Given the description of an element on the screen output the (x, y) to click on. 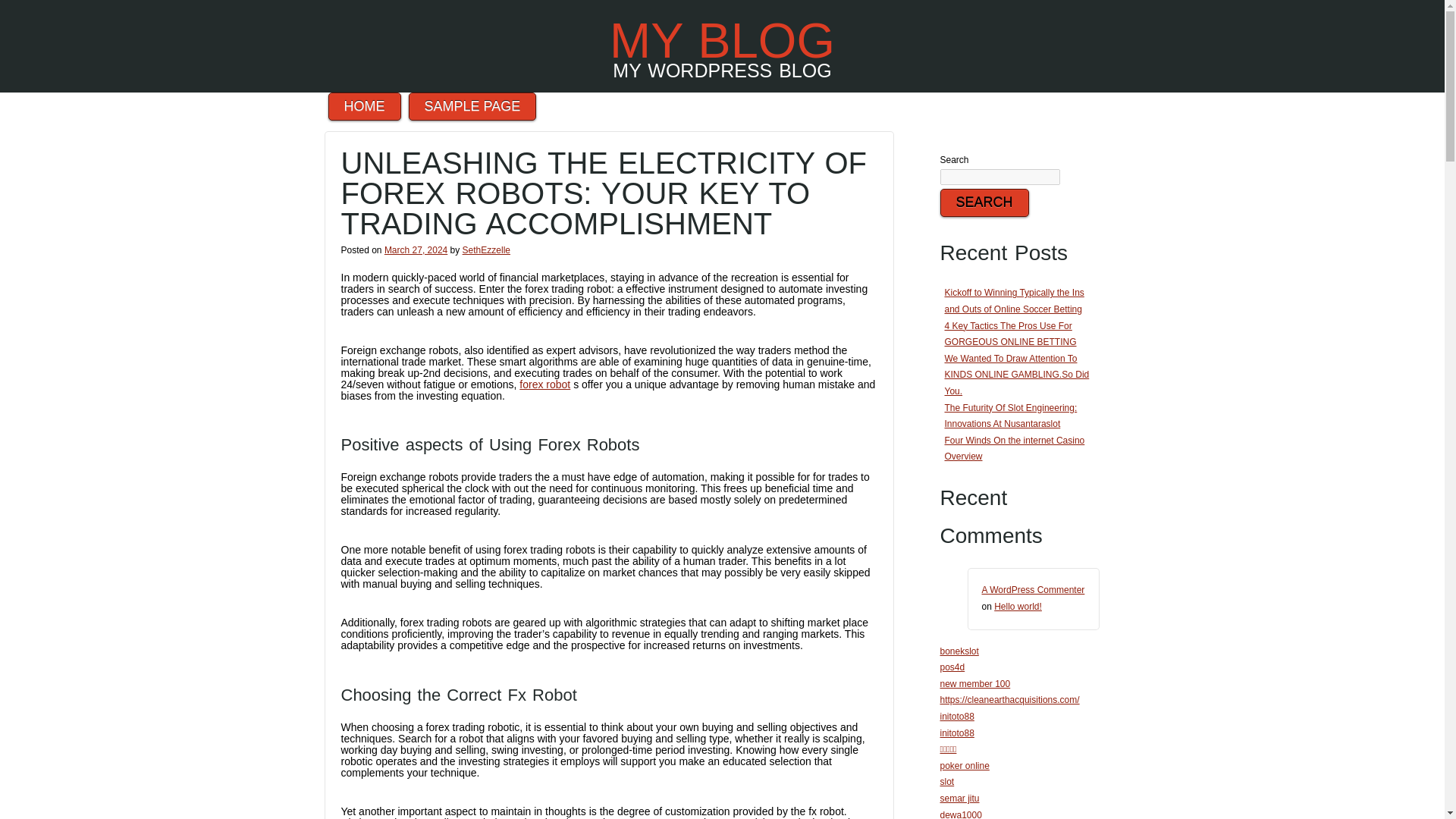
SEARCH (984, 203)
bonekslot (959, 651)
initoto88 (957, 716)
Hello world! (1018, 606)
Four Winds On the internet Casino Overview (1014, 448)
initoto88 (957, 733)
semar jitu (959, 798)
SAMPLE PAGE (473, 106)
SethEzzelle (487, 249)
A WordPress Commenter (1032, 589)
4 Key Tactics The Pros Use For GORGEOUS ONLINE BETTING (1010, 334)
new member 100 (975, 683)
